Given the description of an element on the screen output the (x, y) to click on. 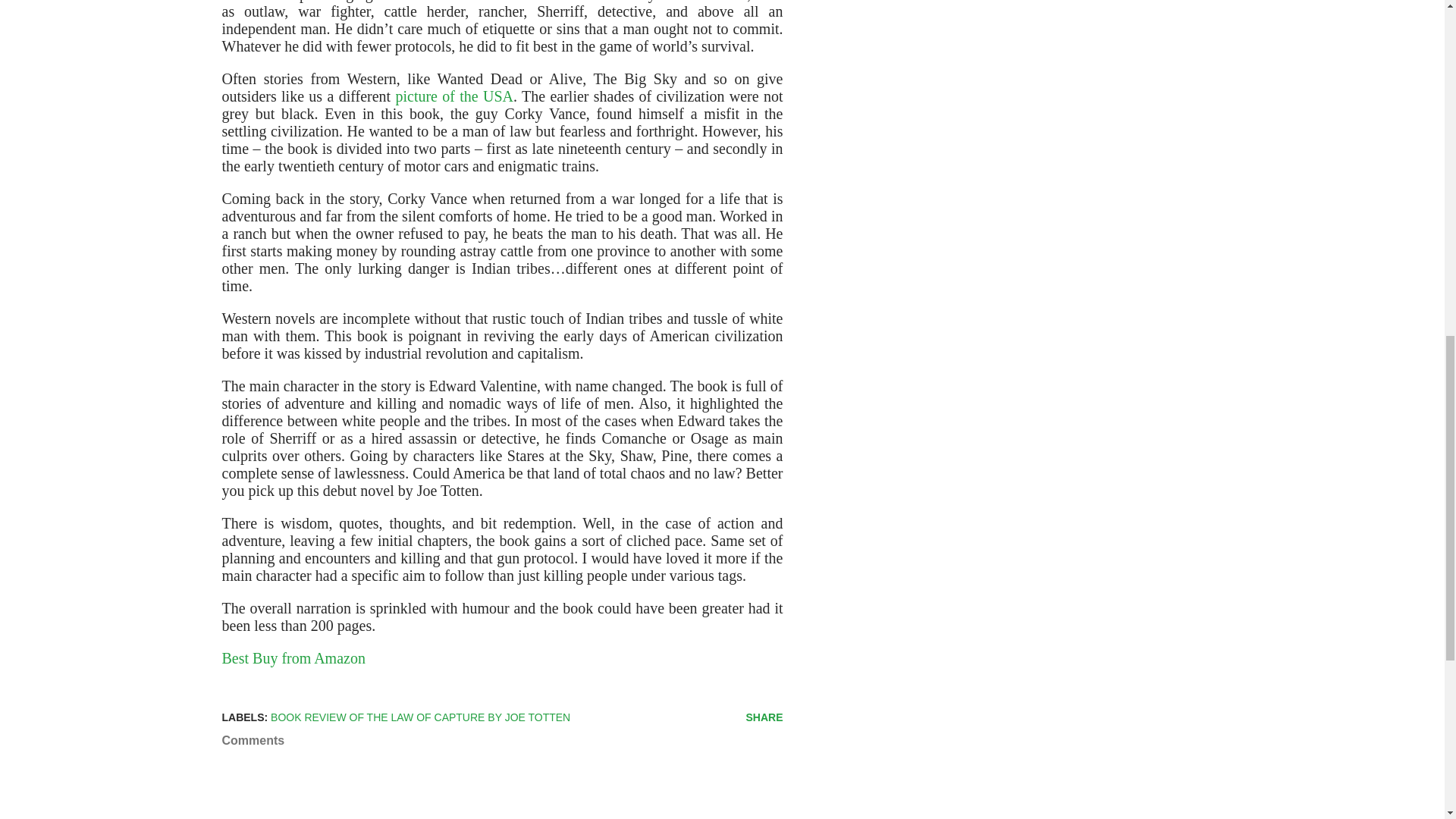
SHARE (764, 717)
picture of the USA (453, 95)
BOOK REVIEW OF THE LAW OF CAPTURE BY JOE TOTTEN (420, 717)
Best Buy from Amazon (293, 658)
